Given the description of an element on the screen output the (x, y) to click on. 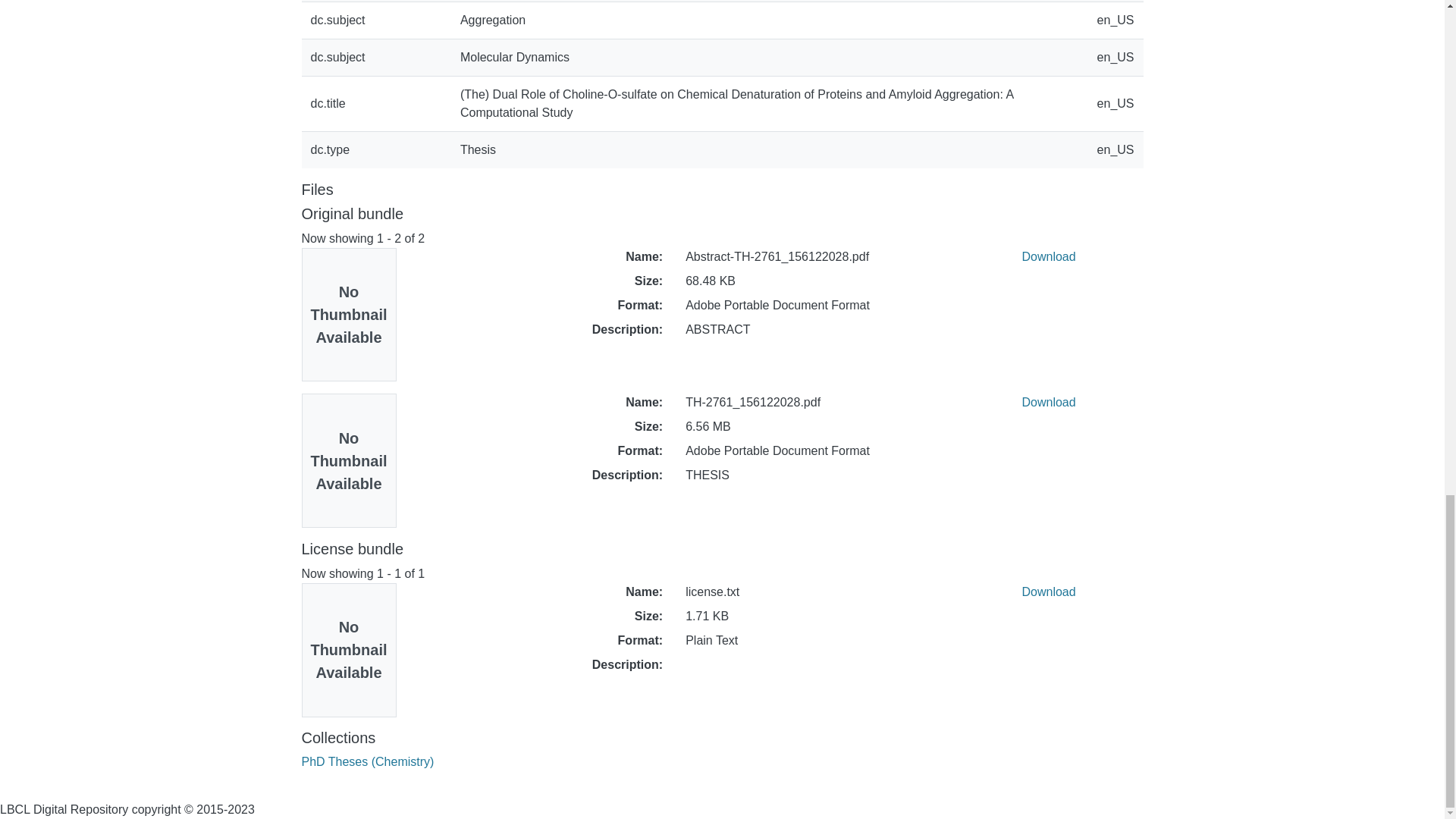
Download (1048, 256)
Download (1048, 591)
Download (1048, 401)
